Given the description of an element on the screen output the (x, y) to click on. 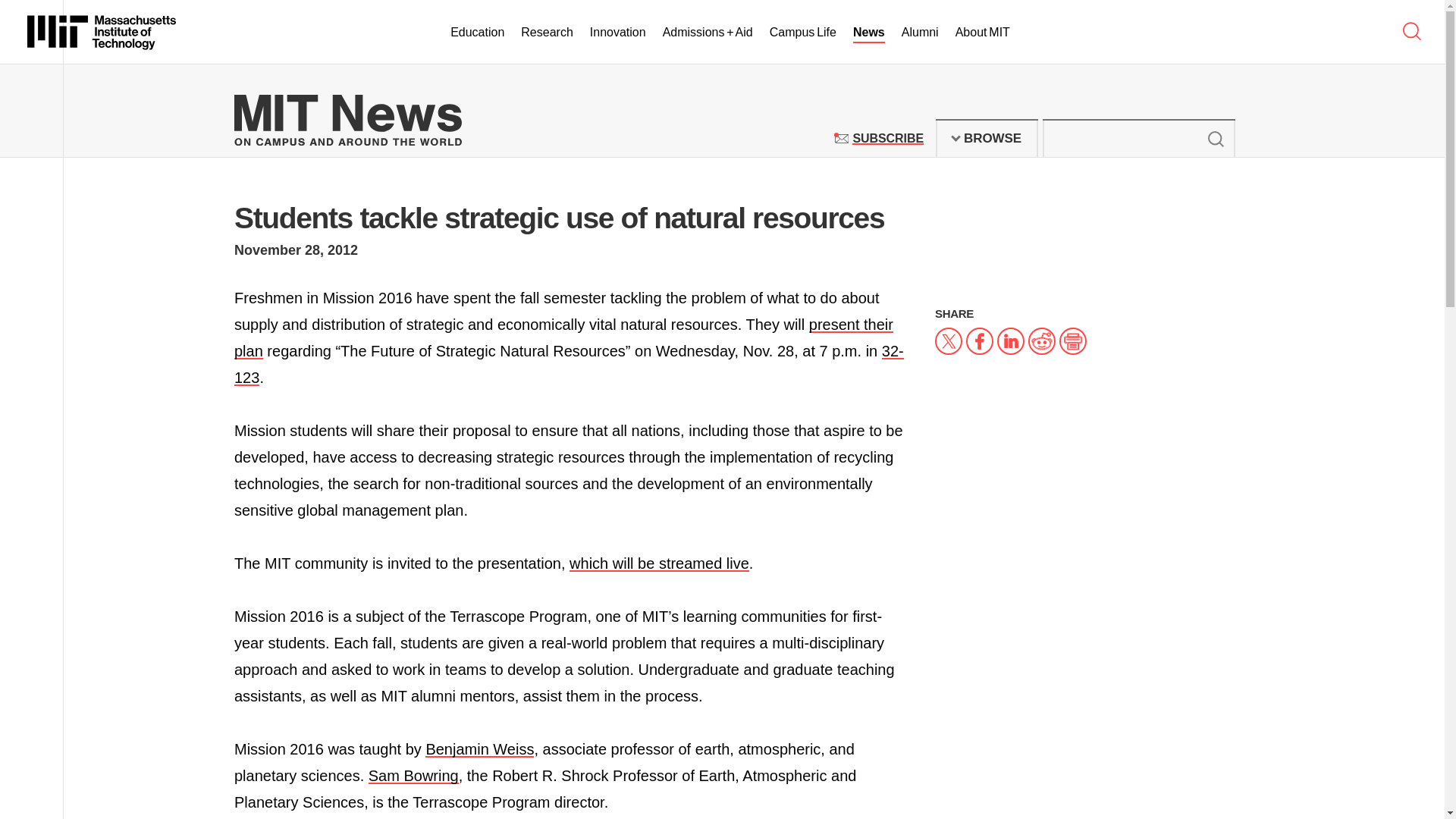
BROWSE (987, 138)
Campus Life (887, 137)
Massachusetts Institute of Technology (802, 32)
Submit (101, 32)
